Given the description of an element on the screen output the (x, y) to click on. 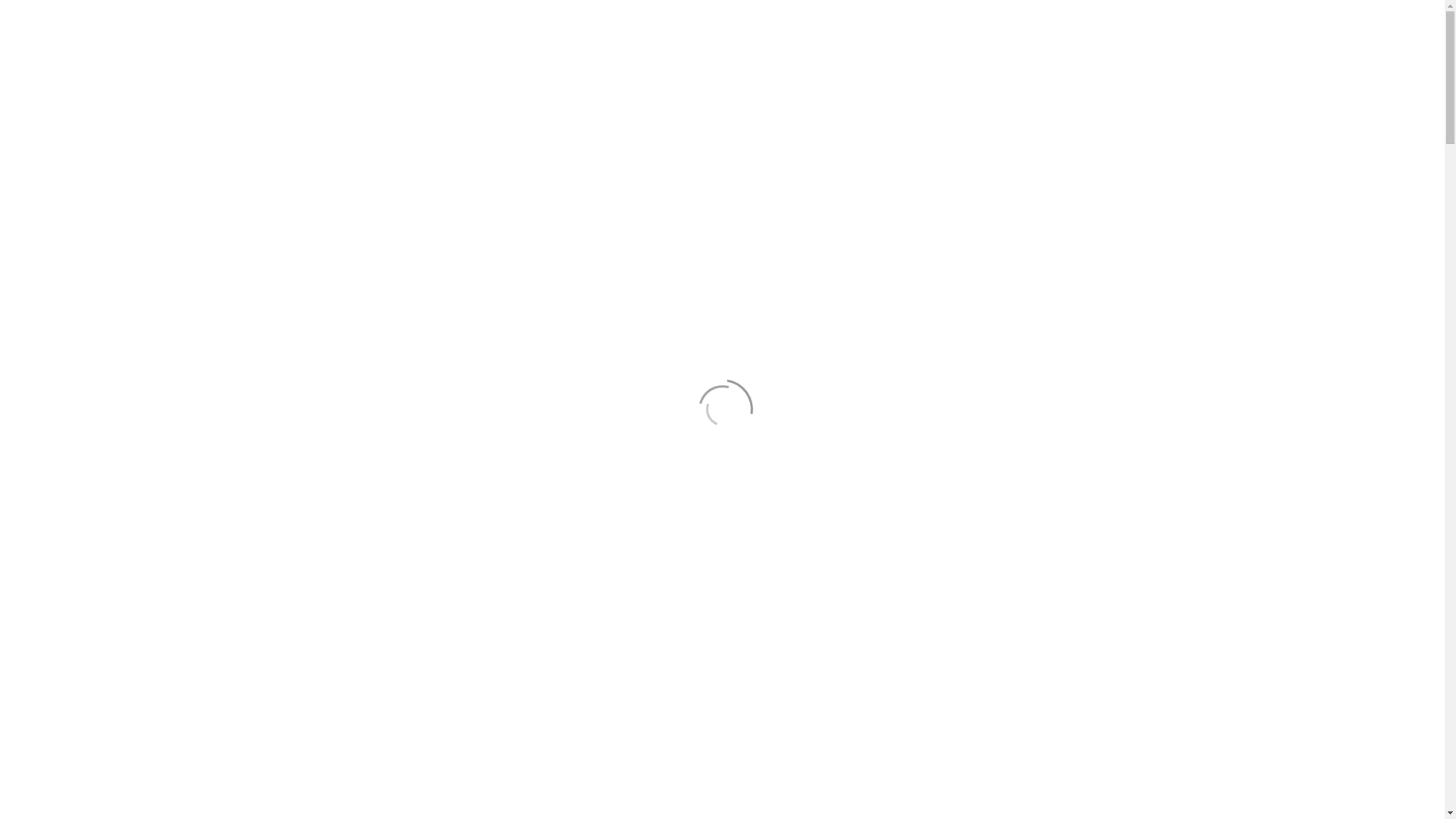
Customer Stories Element type: text (855, 68)
Libero Library Management System Element type: text (531, 68)
+61 7 3356 3631 Element type: text (904, 12)
Library Sectors Element type: text (604, 68)
Contact Us Element type: text (818, 12)
DOWNLOAD BROCHURE Element type: text (942, 292)
About Us Element type: text (760, 68)
CONTACT US Element type: text (1097, 69)
Blog Element type: text (938, 68)
Libero TV Element type: text (1001, 68)
Product Element type: text (690, 68)
Customer Login Element type: text (1113, 12)
BOOK A DEMO Element type: text (941, 223)
